Given the description of an element on the screen output the (x, y) to click on. 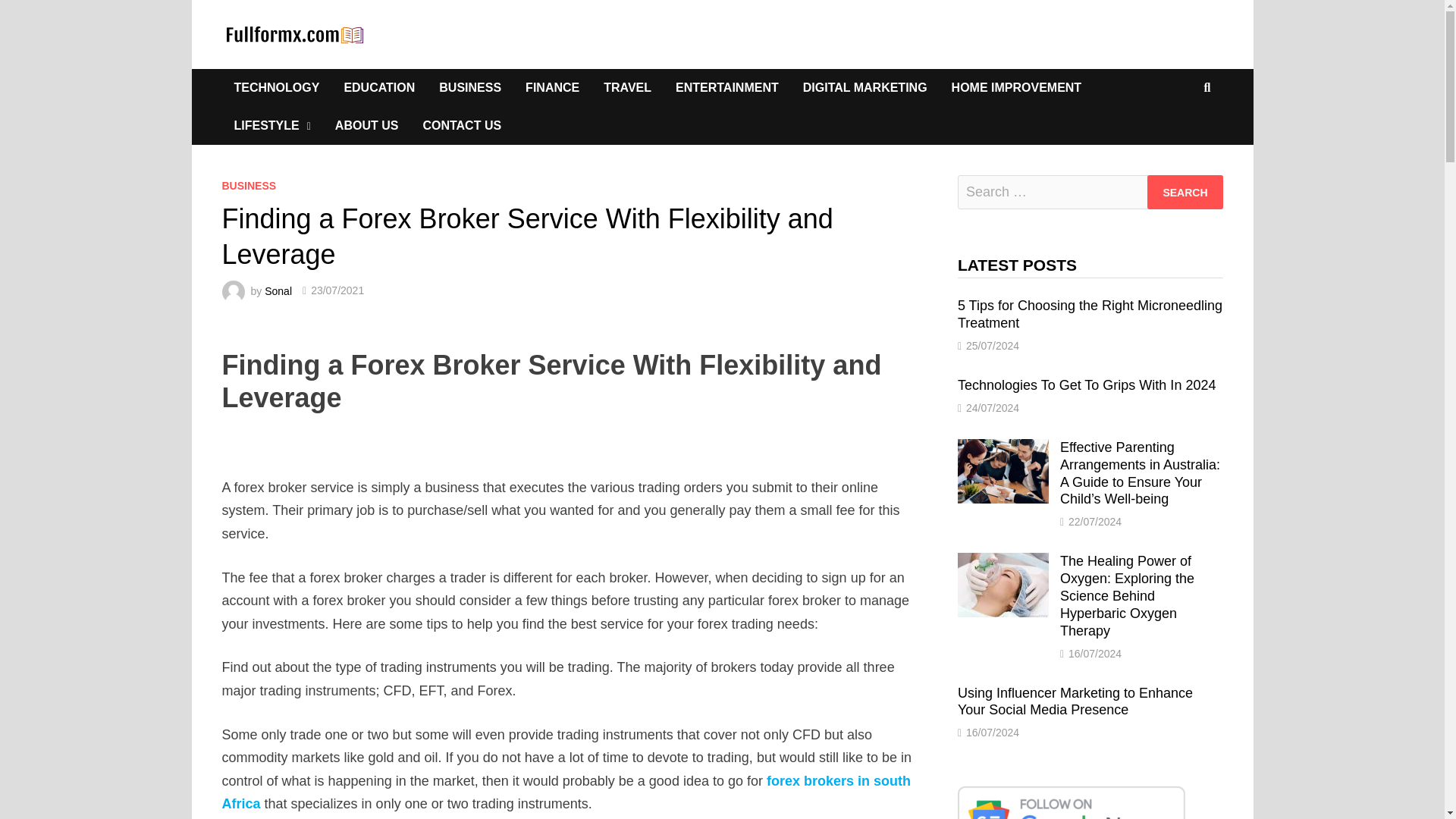
forex brokers in south Africa (566, 792)
LIFESTYLE (271, 125)
Sonal (278, 290)
TECHNOLOGY (276, 87)
TRAVEL (627, 87)
EDUCATION (378, 87)
CONTACT US (461, 125)
Search (1185, 192)
BUSINESS (248, 185)
ENTERTAINMENT (726, 87)
ABOUT US (366, 125)
DIGITAL MARKETING (864, 87)
FINANCE (552, 87)
Search (1185, 192)
